Given the description of an element on the screen output the (x, y) to click on. 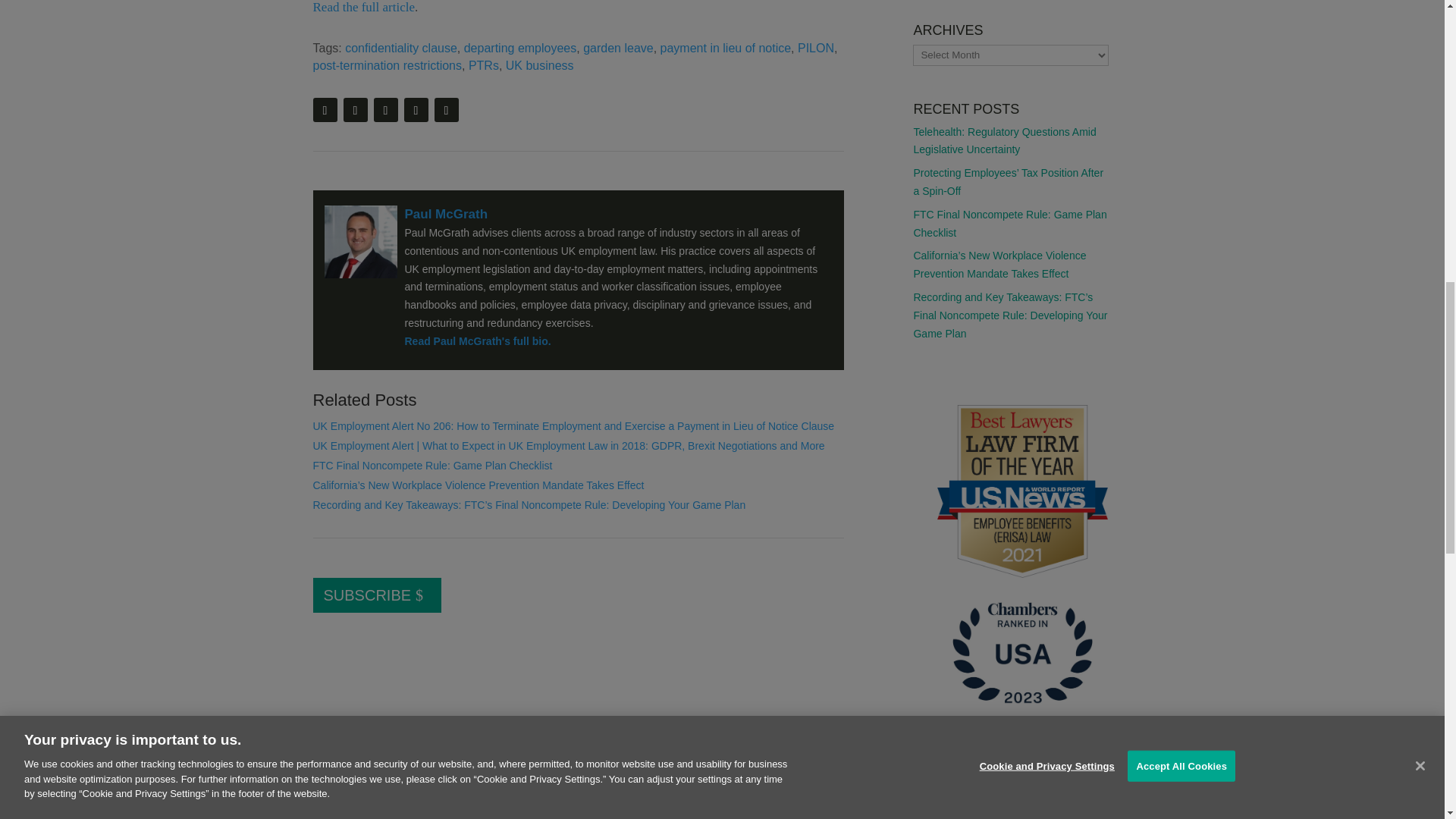
E-Mail (354, 109)
Share on LinkedIn (445, 109)
Print (324, 109)
Share on Facebook (415, 109)
Share on Twitter (384, 109)
